Given the description of an element on the screen output the (x, y) to click on. 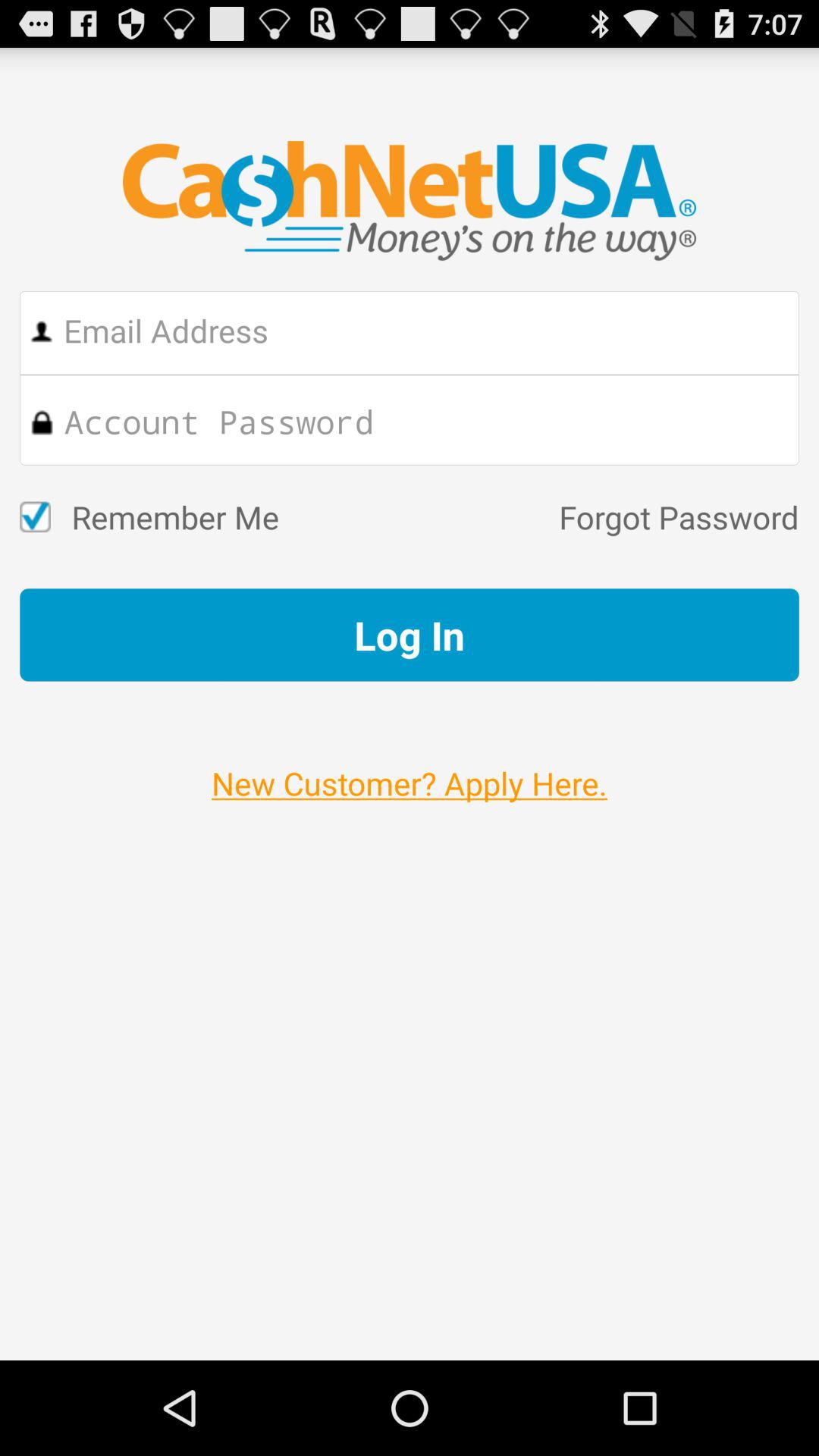
scroll to the new customer apply icon (409, 767)
